Given the description of an element on the screen output the (x, y) to click on. 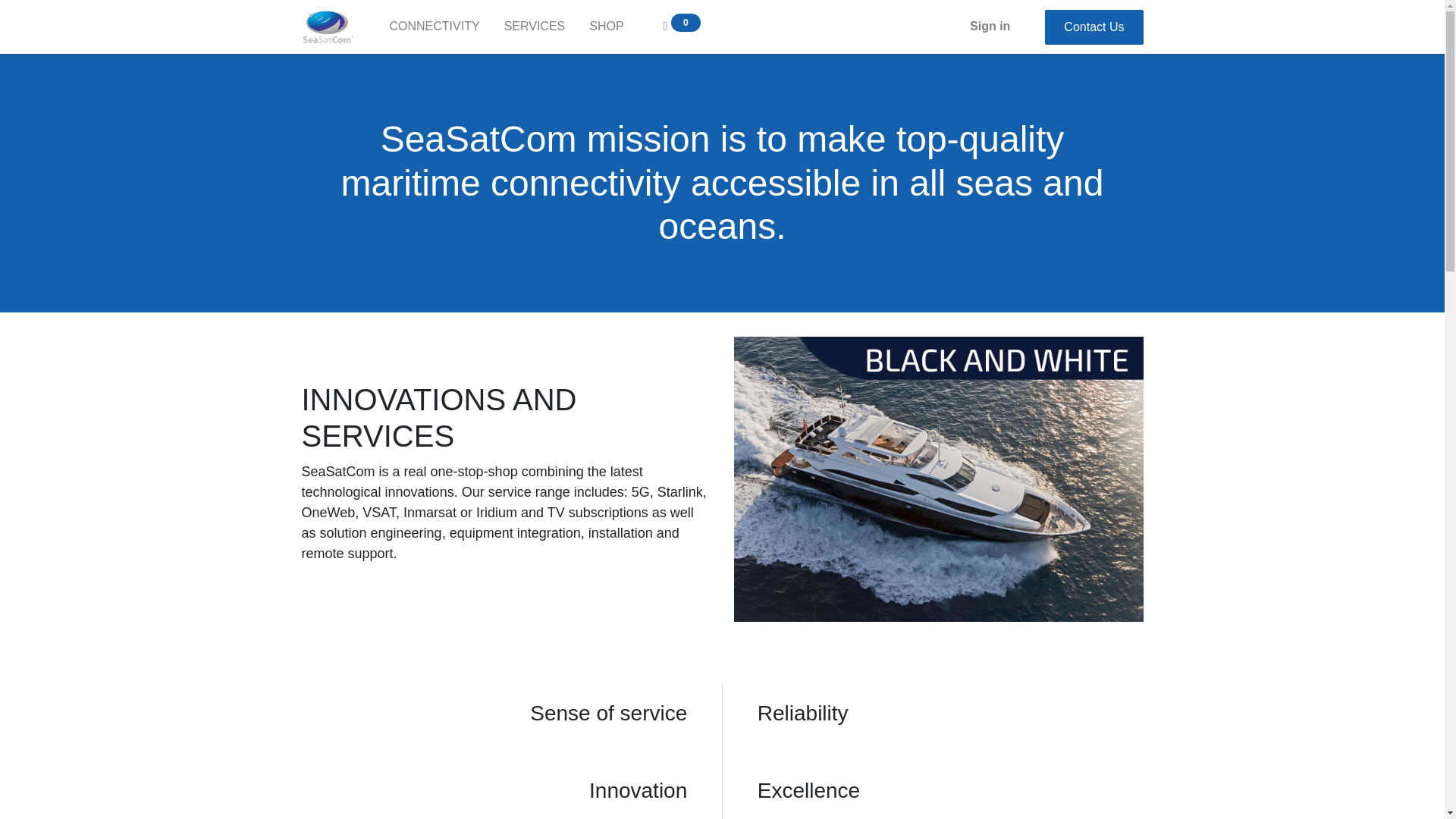
CONNECTIVITY (434, 26)
SERVICES (535, 26)
0 (681, 26)
SHOP (605, 26)
SeaSatCom (328, 27)
Sign in (990, 26)
Contact Us (1093, 26)
